Given the description of an element on the screen output the (x, y) to click on. 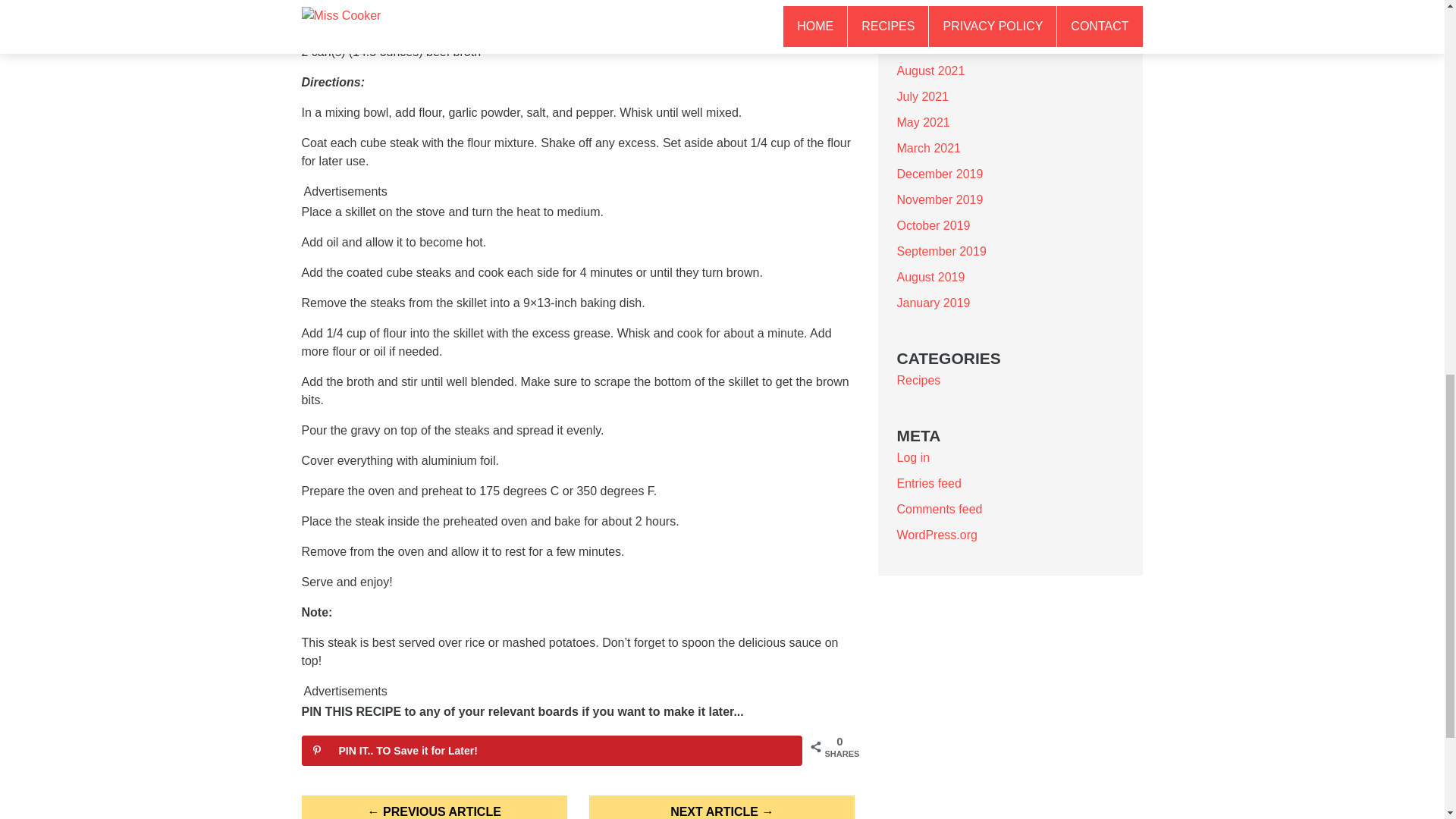
May 2021 (922, 122)
July 2021 (922, 96)
November 2021 (939, 19)
PIN IT.. TO Save it for Later! (551, 750)
August 2021 (929, 70)
Save to Pinterest (551, 750)
December 2019 (939, 173)
September 2021 (940, 44)
March 2021 (928, 147)
November 2019 (939, 199)
